Given the description of an element on the screen output the (x, y) to click on. 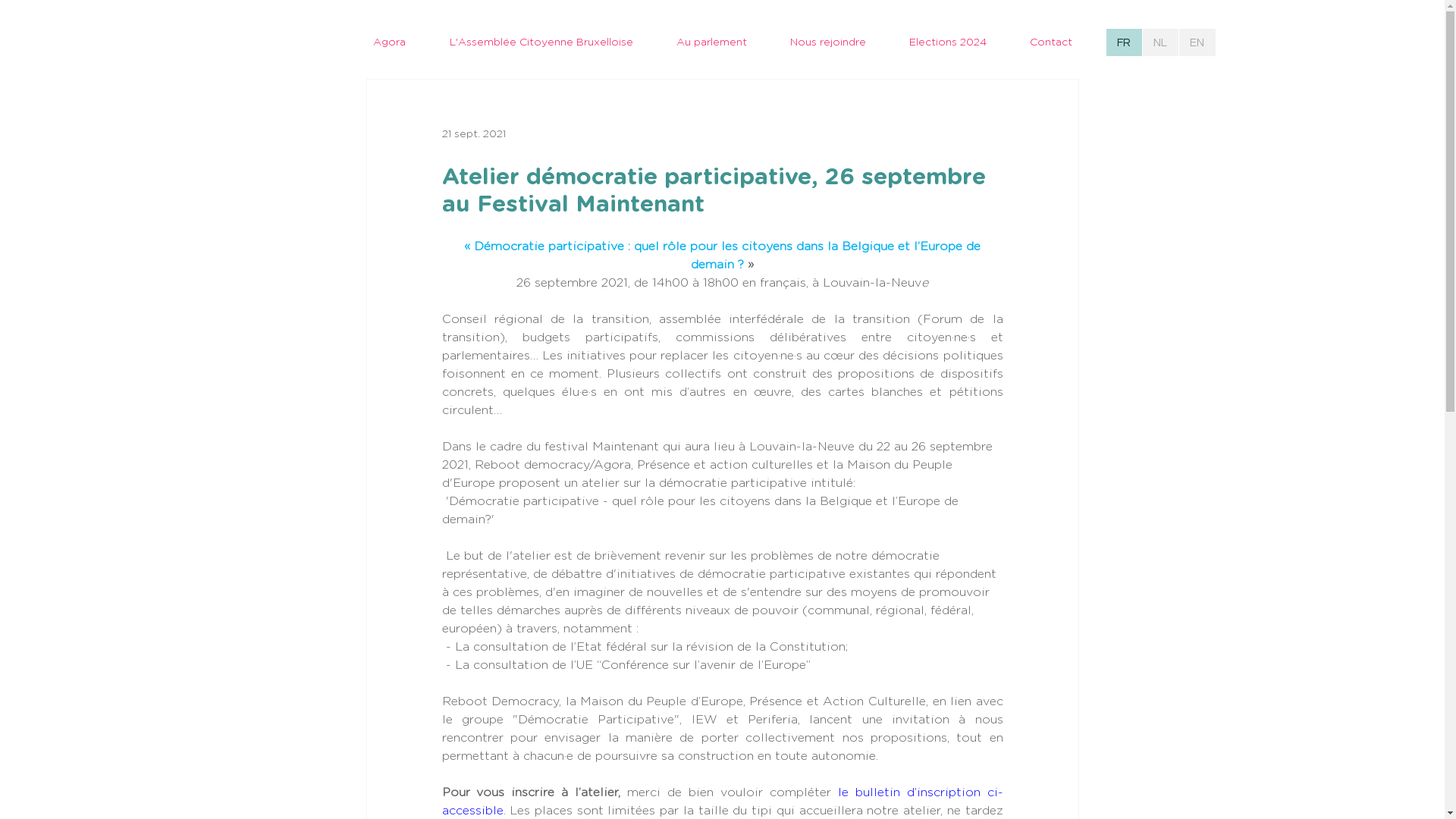
Agora Element type: text (388, 42)
FR Element type: text (1123, 42)
NL Element type: text (1160, 42)
Nous rejoindre Element type: text (828, 42)
Au parlement Element type: text (711, 42)
Elections 2024 Element type: text (947, 42)
Contact Element type: text (1051, 42)
EN Element type: text (1196, 42)
